Given the description of an element on the screen output the (x, y) to click on. 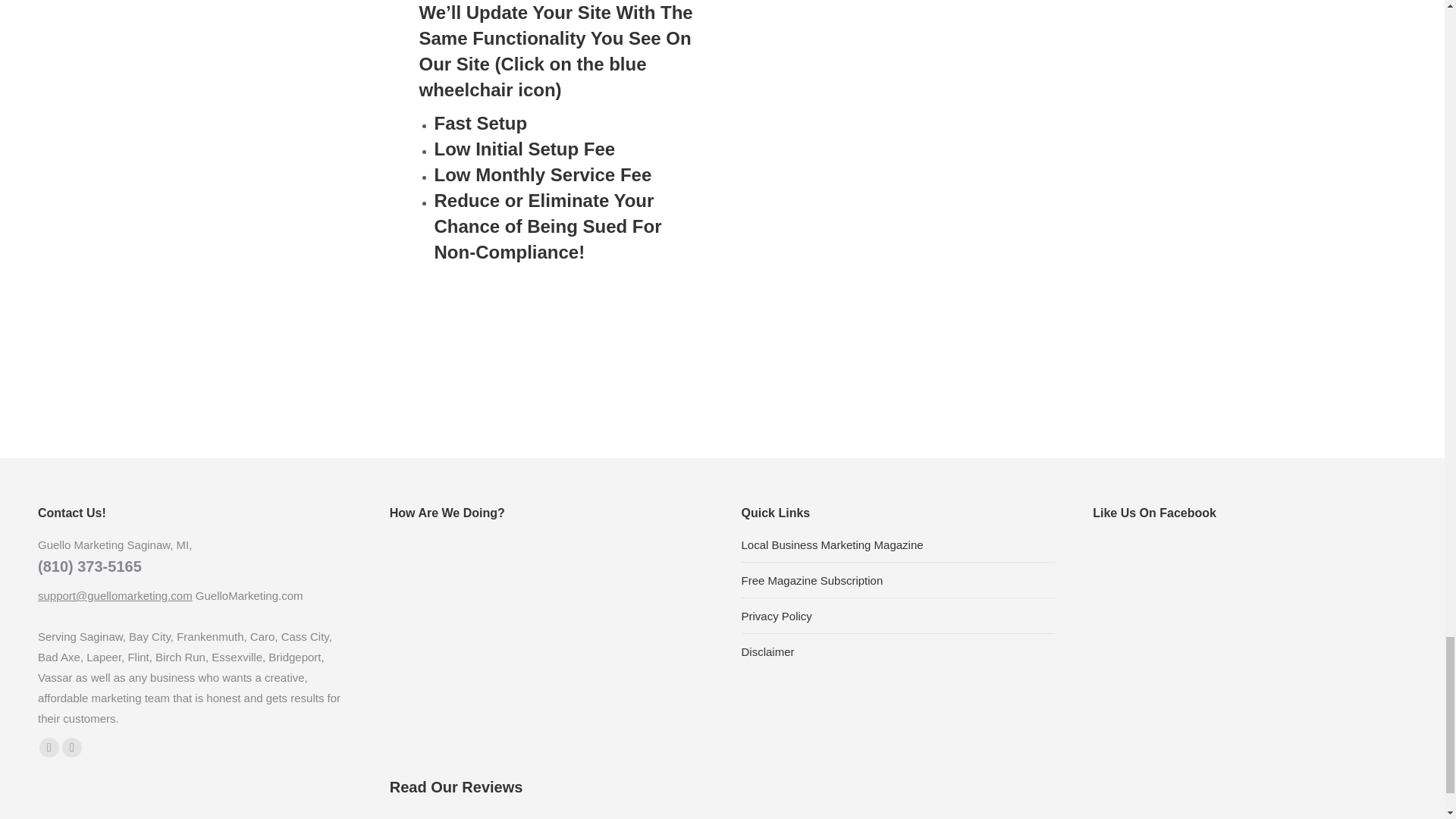
Facebook page opens in new window (49, 747)
Yelp page opens in new window (71, 747)
Protection (885, 142)
